Given the description of an element on the screen output the (x, y) to click on. 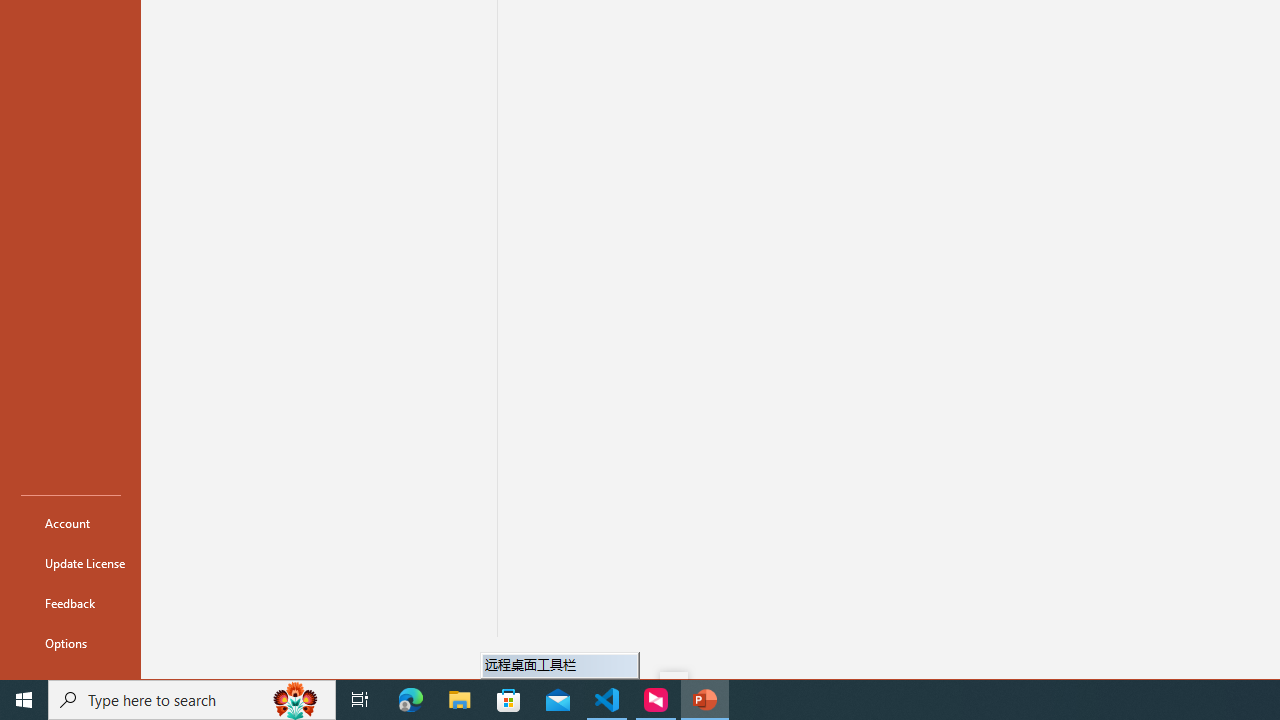
Microsoft Store (509, 699)
File Explorer (460, 699)
Microsoft Edge (411, 699)
Search highlights icon opens search home window (295, 699)
Account (70, 522)
Visual Studio Code - 1 running window (607, 699)
Start (24, 699)
Type here to search (191, 699)
Update License (70, 562)
PowerPoint - 1 running window (704, 699)
Options (70, 642)
Feedback (70, 602)
Task View (359, 699)
